Given the description of an element on the screen output the (x, y) to click on. 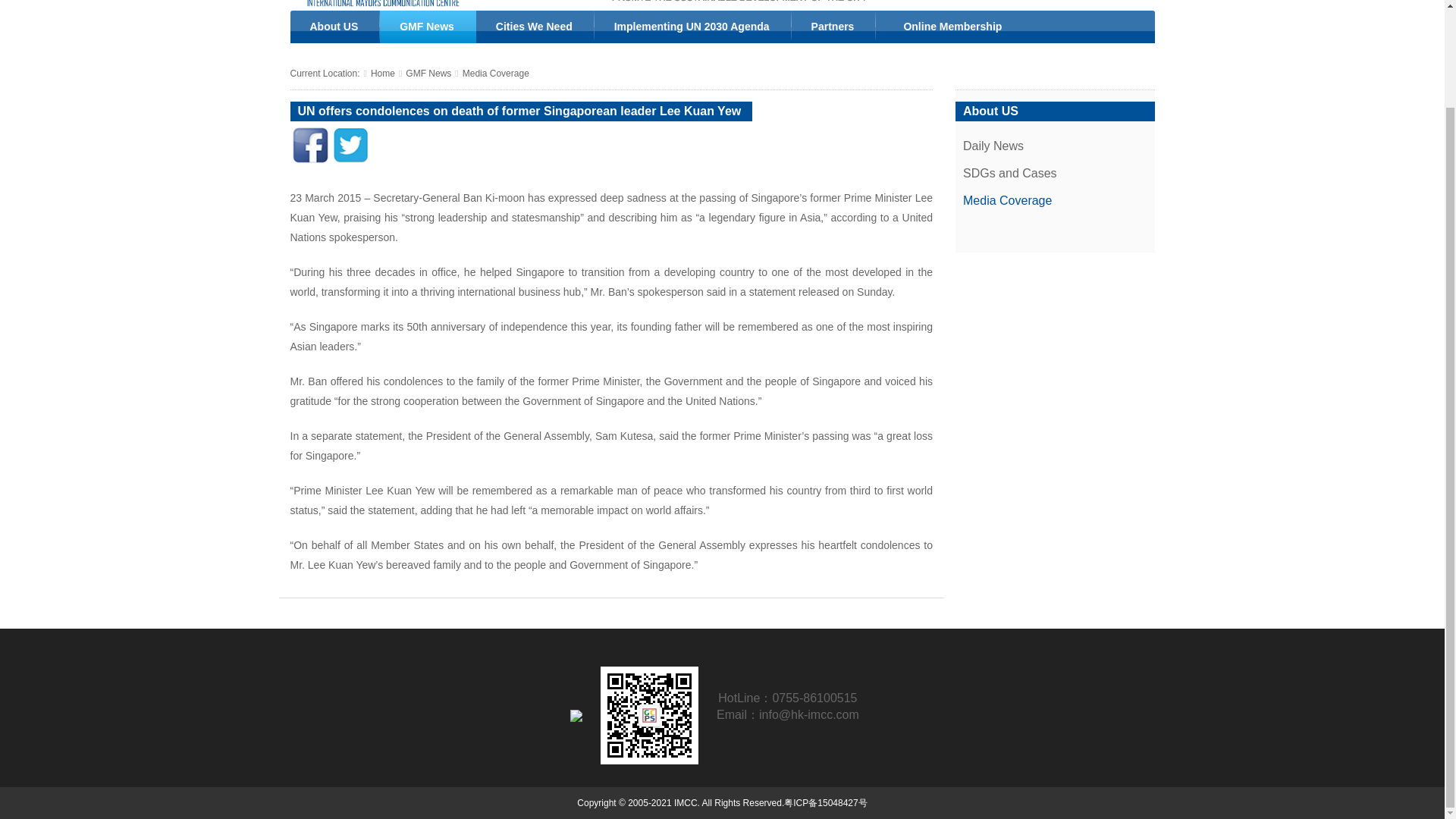
Home (382, 72)
Partners (834, 26)
Online Membership (949, 26)
Daily News (992, 145)
Partners (834, 26)
GMF News (428, 72)
Cities We Need (535, 26)
About US (334, 26)
GMF News (428, 26)
About US (334, 26)
Implementing UN 2030 Agenda (693, 26)
Cities We Need (535, 26)
Implementing UN 2030 Agenda (693, 26)
GMF News (428, 26)
Media Coverage (496, 72)
